Given the description of an element on the screen output the (x, y) to click on. 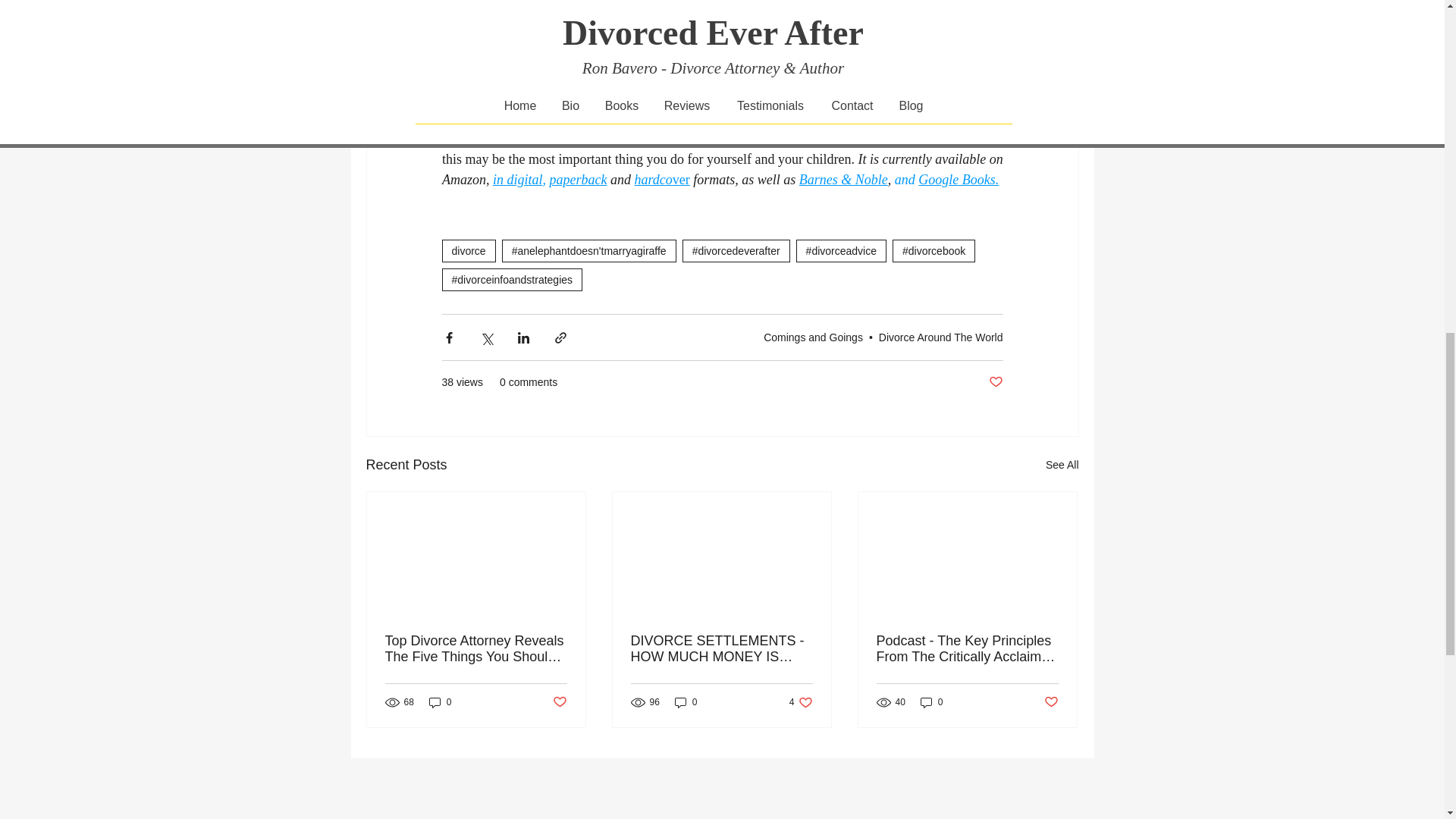
paperback (577, 179)
0 (440, 702)
Post not marked as liked (558, 702)
Divorce Around The World (941, 337)
Google Books. (958, 179)
See All (1061, 464)
divorce (468, 250)
Post not marked as liked (995, 382)
hardco (652, 179)
Comings and Goings (812, 337)
in digital (518, 179)
